Given the description of an element on the screen output the (x, y) to click on. 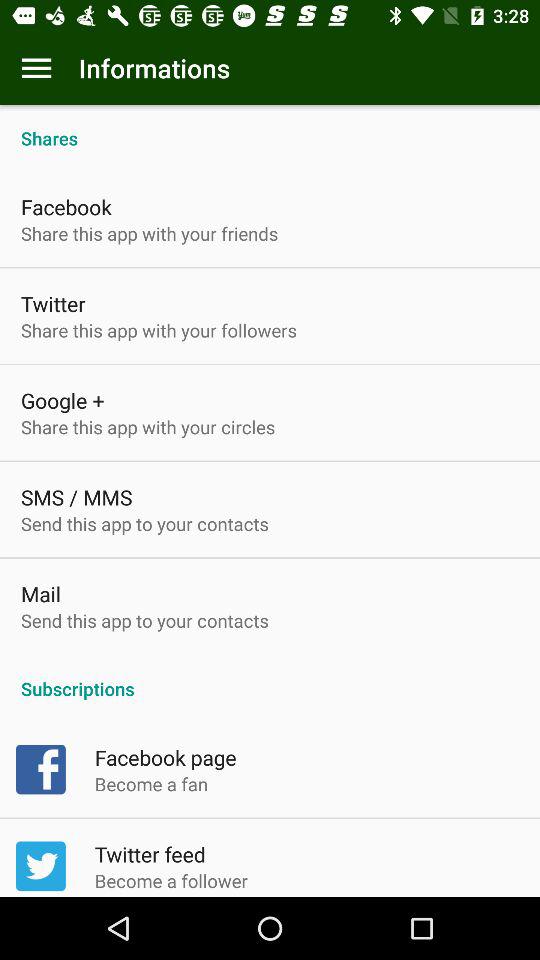
swipe to the shares (270, 127)
